Given the description of an element on the screen output the (x, y) to click on. 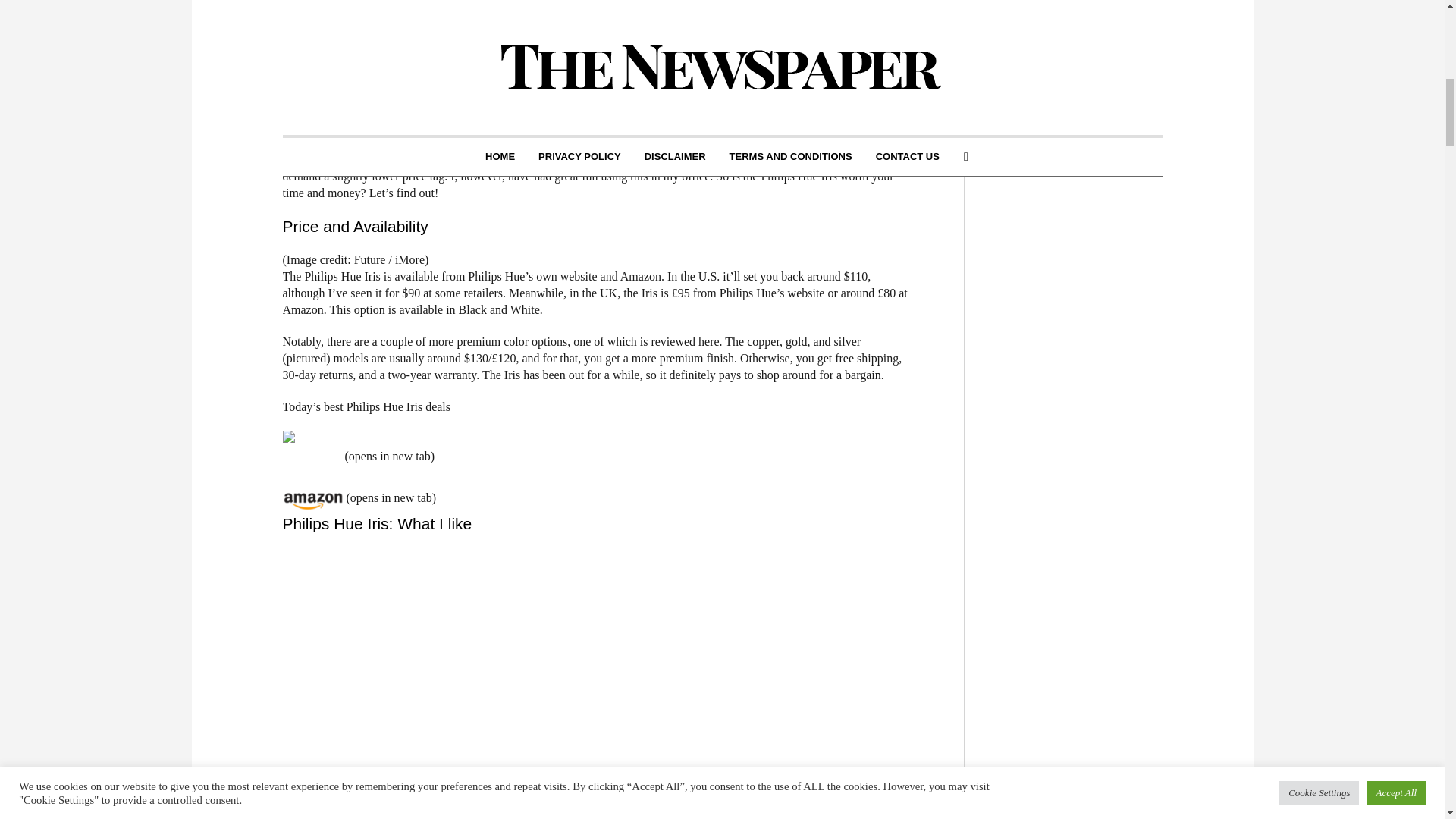
Philips Hue Iris review: A cool but costly lamp for (596, 13)
View Similar Amazon US (311, 457)
Amazon (312, 499)
